Given the description of an element on the screen output the (x, y) to click on. 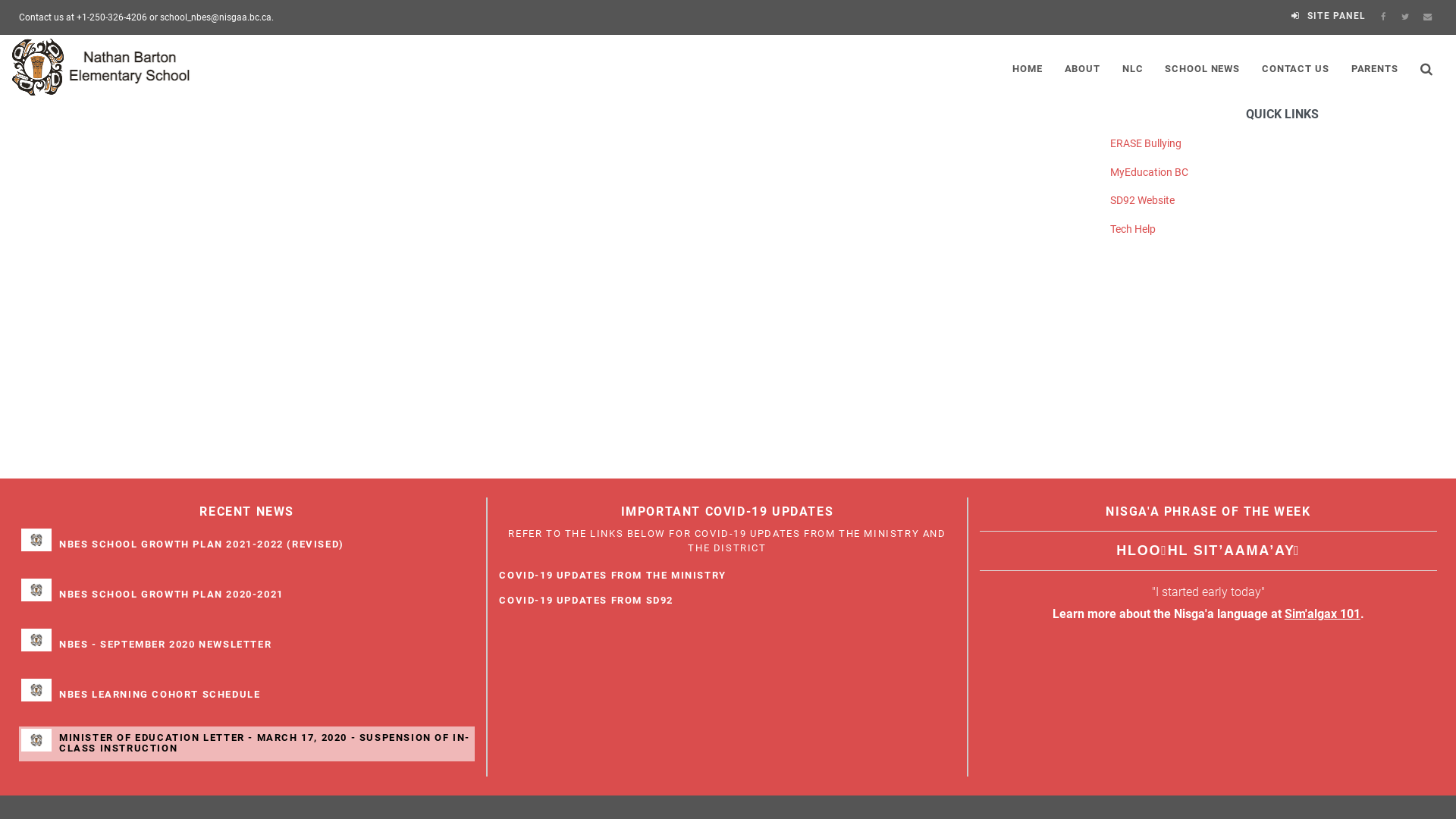
SITE PANEL Element type: text (1328, 15)
COVID-19 UPDATES FROM SD92 Element type: text (585, 600)
NBES - SEPTEMBER 2020 NEWSLETTER Element type: text (165, 644)
ABOUT Element type: text (1081, 66)
NLC Element type: text (1131, 66)
PARENTS Element type: text (1373, 66)
NBES SCHOOL GROWTH PLAN 2021-2022 (REVISED) Element type: text (201, 544)
CONTACT US Element type: text (1295, 66)
NBES - go to homepage Element type: text (103, 66)
NBES LEARNING COHORT SCHEDULE Element type: text (159, 694)
HOME Element type: text (1027, 66)
Sim'algax 101 Element type: text (1322, 614)
NBES SCHOOL GROWTH PLAN 2020-2021 Element type: text (171, 594)
SCHOOL NEWS Element type: text (1202, 66)
COVID-19 UPDATES FROM THE MINISTRY Element type: text (611, 575)
